Given the description of an element on the screen output the (x, y) to click on. 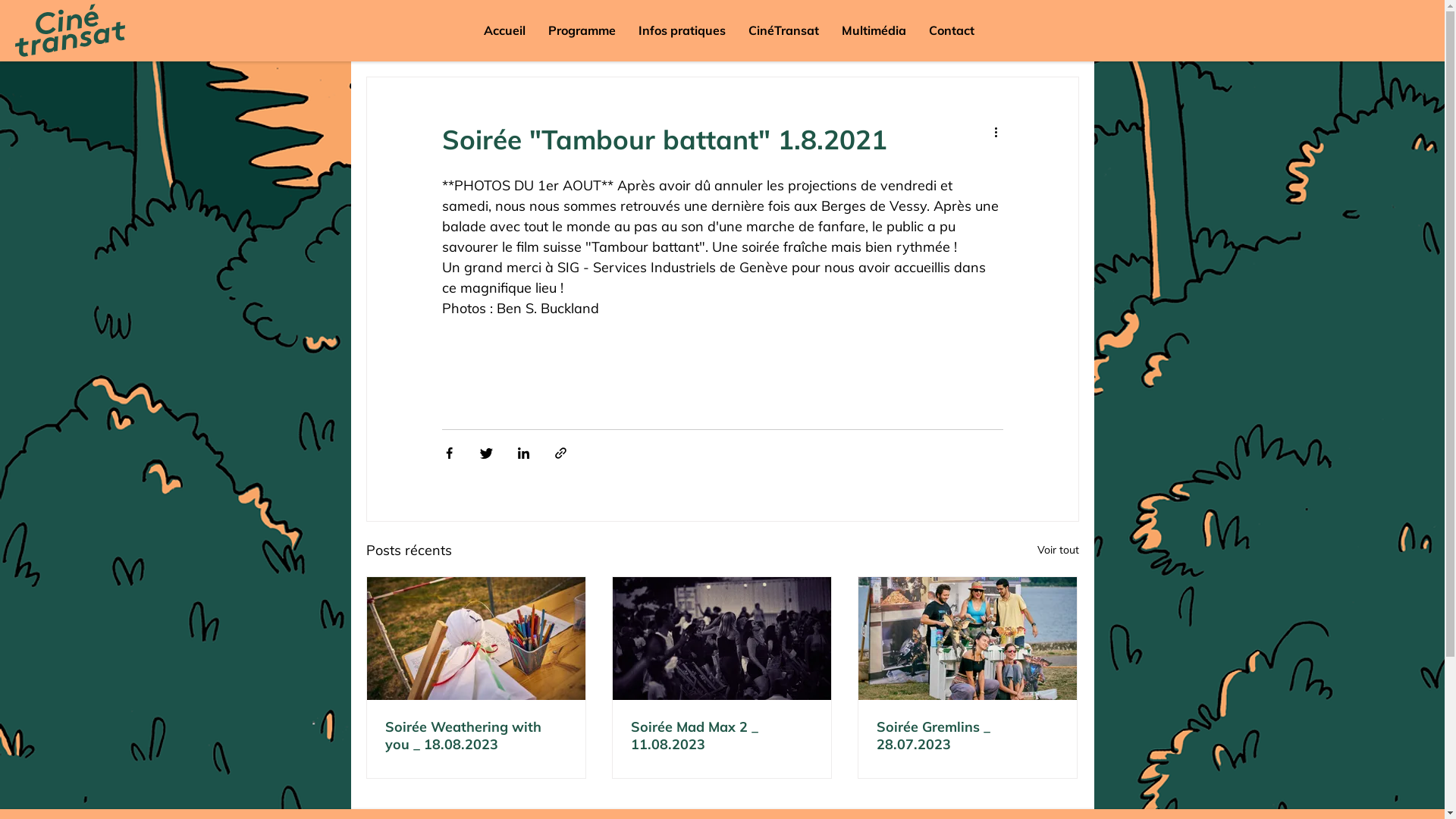
Programme Element type: text (581, 30)
Accueil Element type: text (504, 30)
Voir tout Element type: text (1058, 550)
Contact Element type: text (951, 30)
Infos pratiques Element type: text (682, 30)
